Given the description of an element on the screen output the (x, y) to click on. 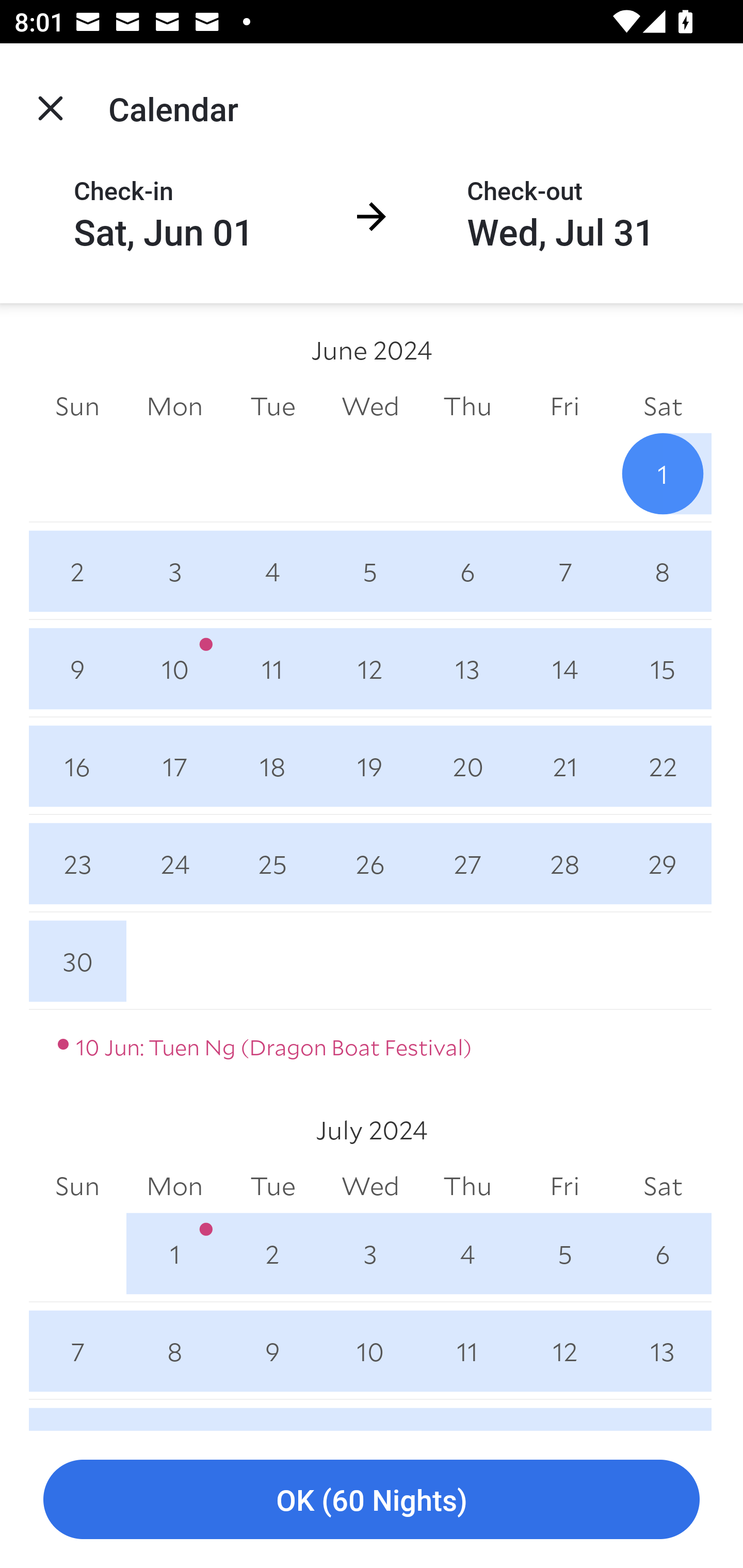
Sun (77, 405)
Mon (174, 405)
Tue (272, 405)
Wed (370, 405)
Thu (467, 405)
Fri (564, 405)
Sat (662, 405)
1 1 June 2024 (662, 473)
2 2 June 2024 (77, 570)
3 3 June 2024 (174, 570)
4 4 June 2024 (272, 570)
5 5 June 2024 (370, 570)
6 6 June 2024 (467, 570)
7 7 June 2024 (564, 570)
8 8 June 2024 (662, 570)
9 9 June 2024 (77, 668)
10 10 June 2024 (174, 668)
11 11 June 2024 (272, 668)
12 12 June 2024 (370, 668)
13 13 June 2024 (467, 668)
14 14 June 2024 (564, 668)
15 15 June 2024 (662, 668)
16 16 June 2024 (77, 766)
17 17 June 2024 (174, 766)
18 18 June 2024 (272, 766)
19 19 June 2024 (370, 766)
20 20 June 2024 (467, 766)
21 21 June 2024 (564, 766)
22 22 June 2024 (662, 766)
23 23 June 2024 (77, 863)
24 24 June 2024 (174, 863)
25 25 June 2024 (272, 863)
26 26 June 2024 (370, 863)
27 27 June 2024 (467, 863)
28 28 June 2024 (564, 863)
29 29 June 2024 (662, 863)
30 30 June 2024 (77, 960)
Sun (77, 1186)
Mon (174, 1186)
Tue (272, 1186)
Wed (370, 1186)
Thu (467, 1186)
Fri (564, 1186)
Sat (662, 1186)
1 1 July 2024 (174, 1253)
2 2 July 2024 (272, 1253)
3 3 July 2024 (370, 1253)
4 4 July 2024 (467, 1253)
5 5 July 2024 (564, 1253)
